Given the description of an element on the screen output the (x, y) to click on. 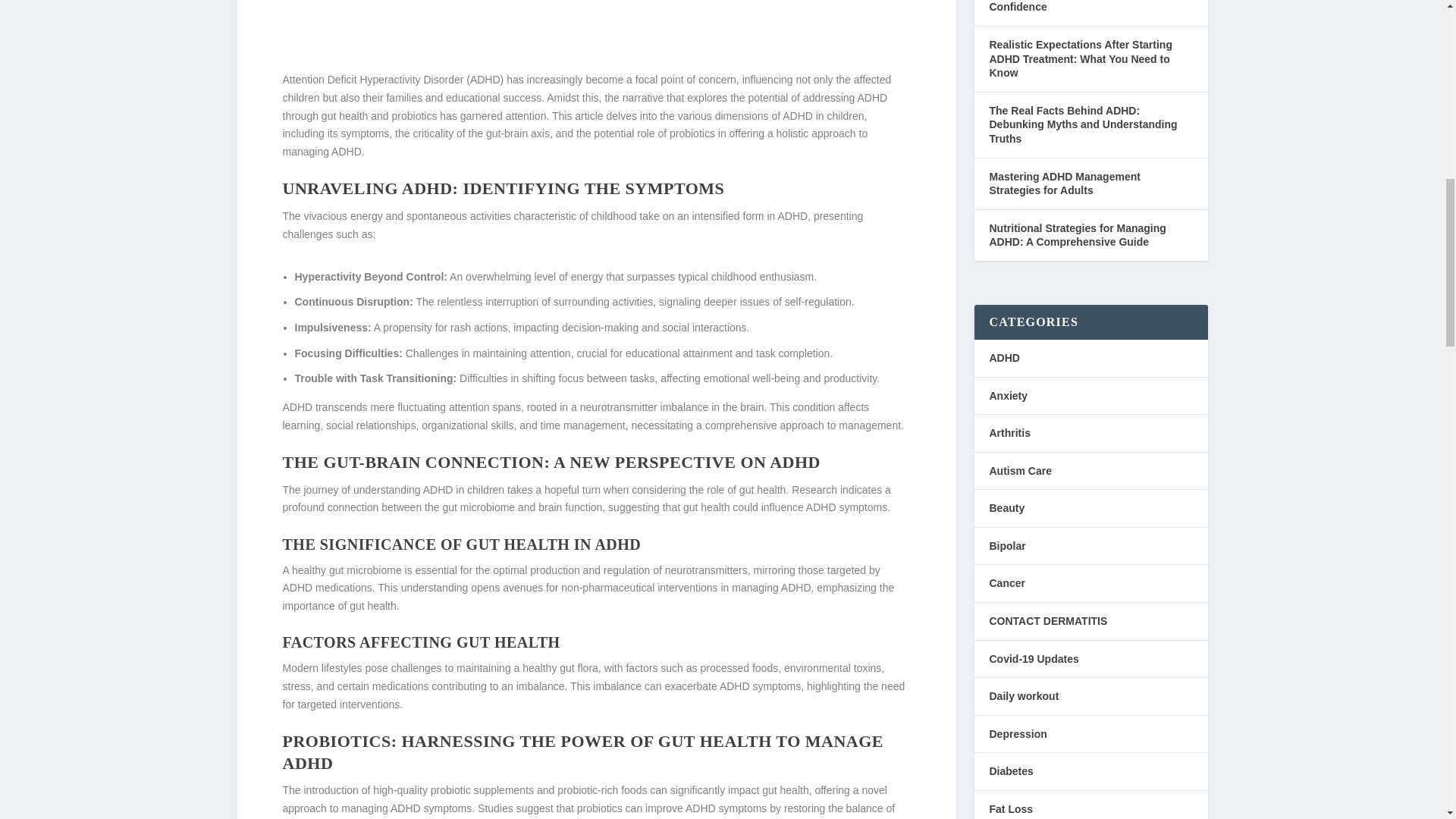
Advertisement (596, 35)
